Given the description of an element on the screen output the (x, y) to click on. 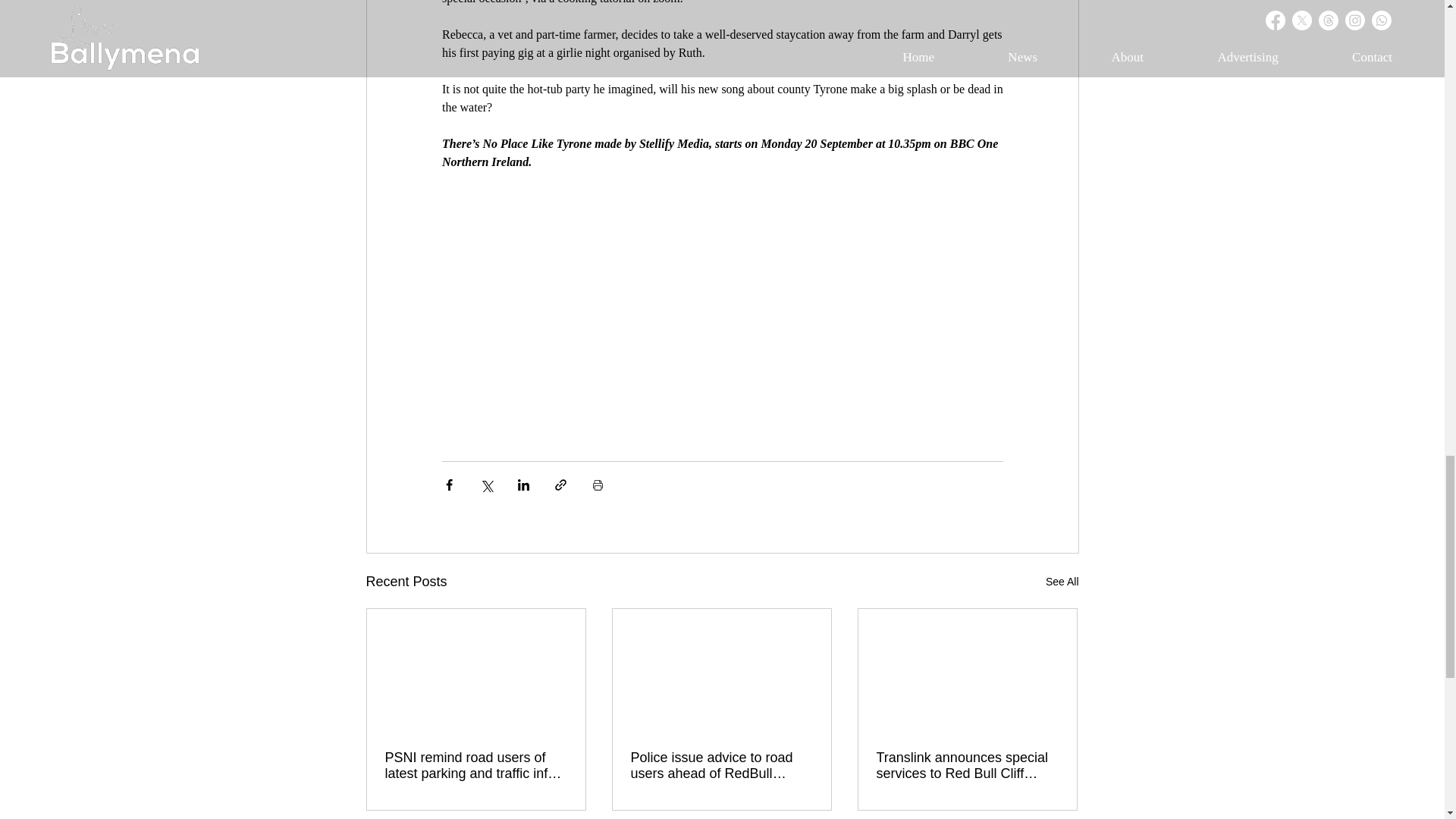
See All (1061, 581)
